Given the description of an element on the screen output the (x, y) to click on. 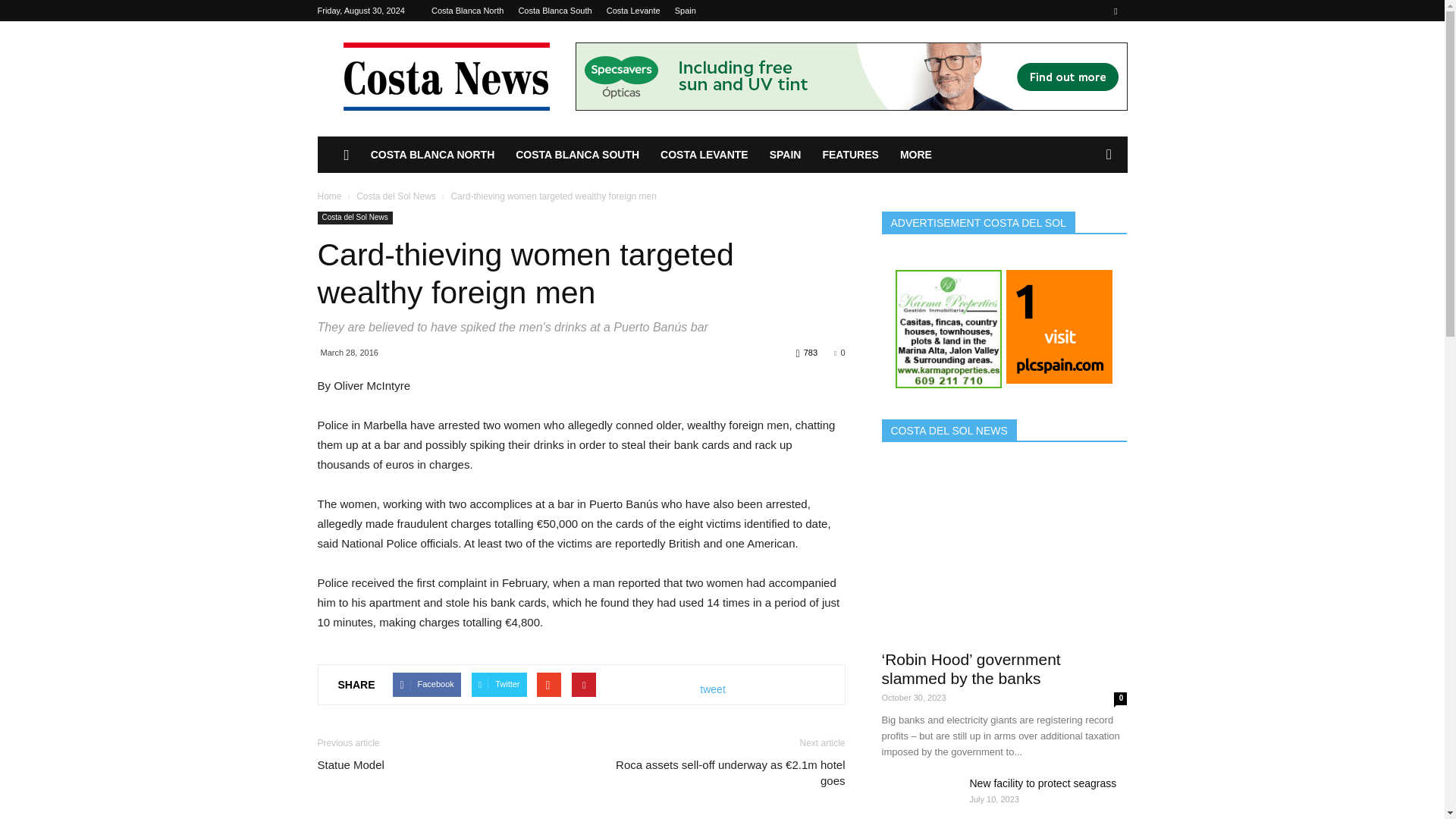
Costa News (445, 76)
Costa Blanca North (466, 10)
Facebook (1114, 10)
Costa Levante (634, 10)
Costa Blanca South (554, 10)
Spain (685, 10)
